Given the description of an element on the screen output the (x, y) to click on. 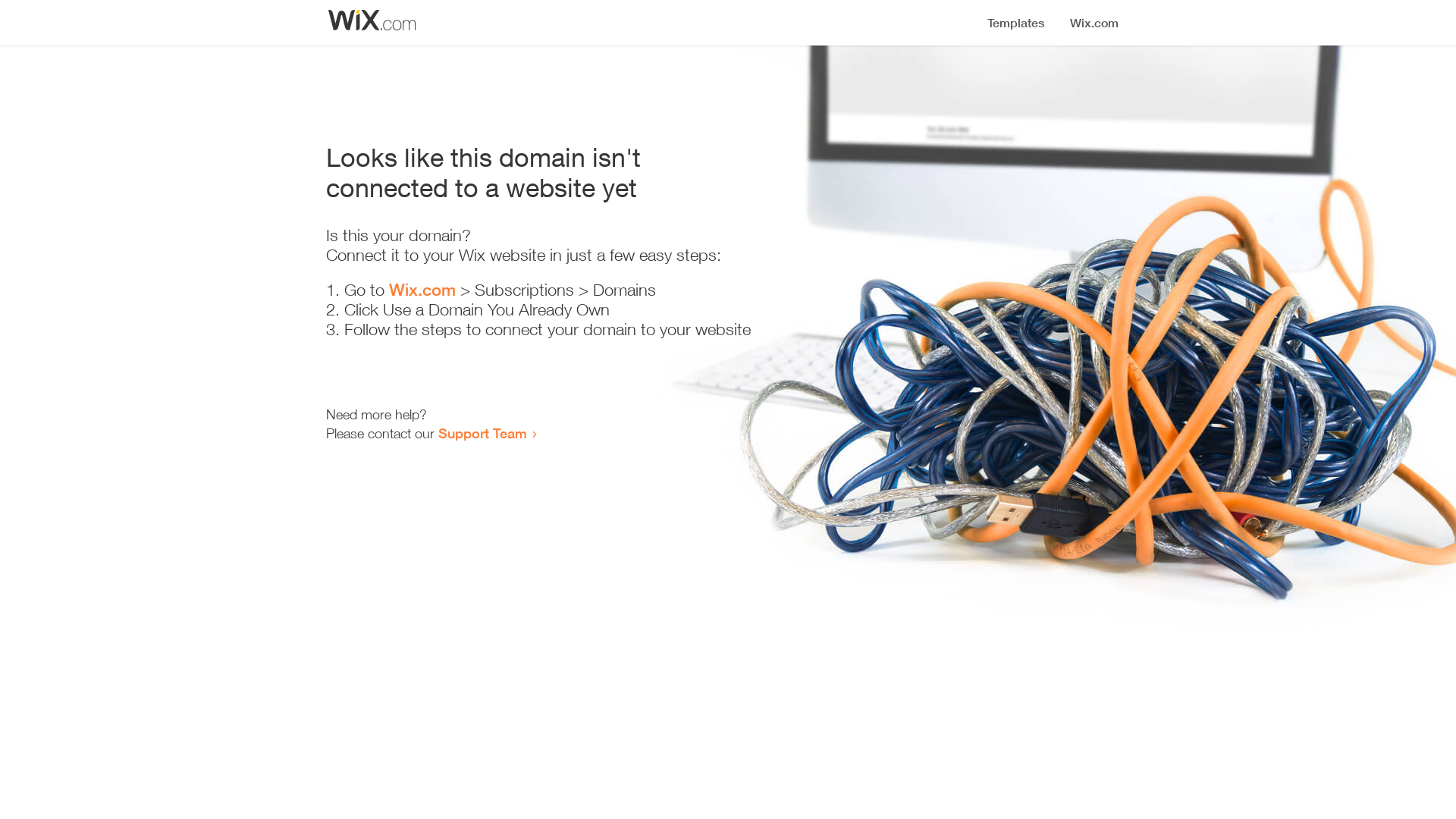
Wix.com Element type: text (422, 289)
Support Team Element type: text (482, 432)
